Given the description of an element on the screen output the (x, y) to click on. 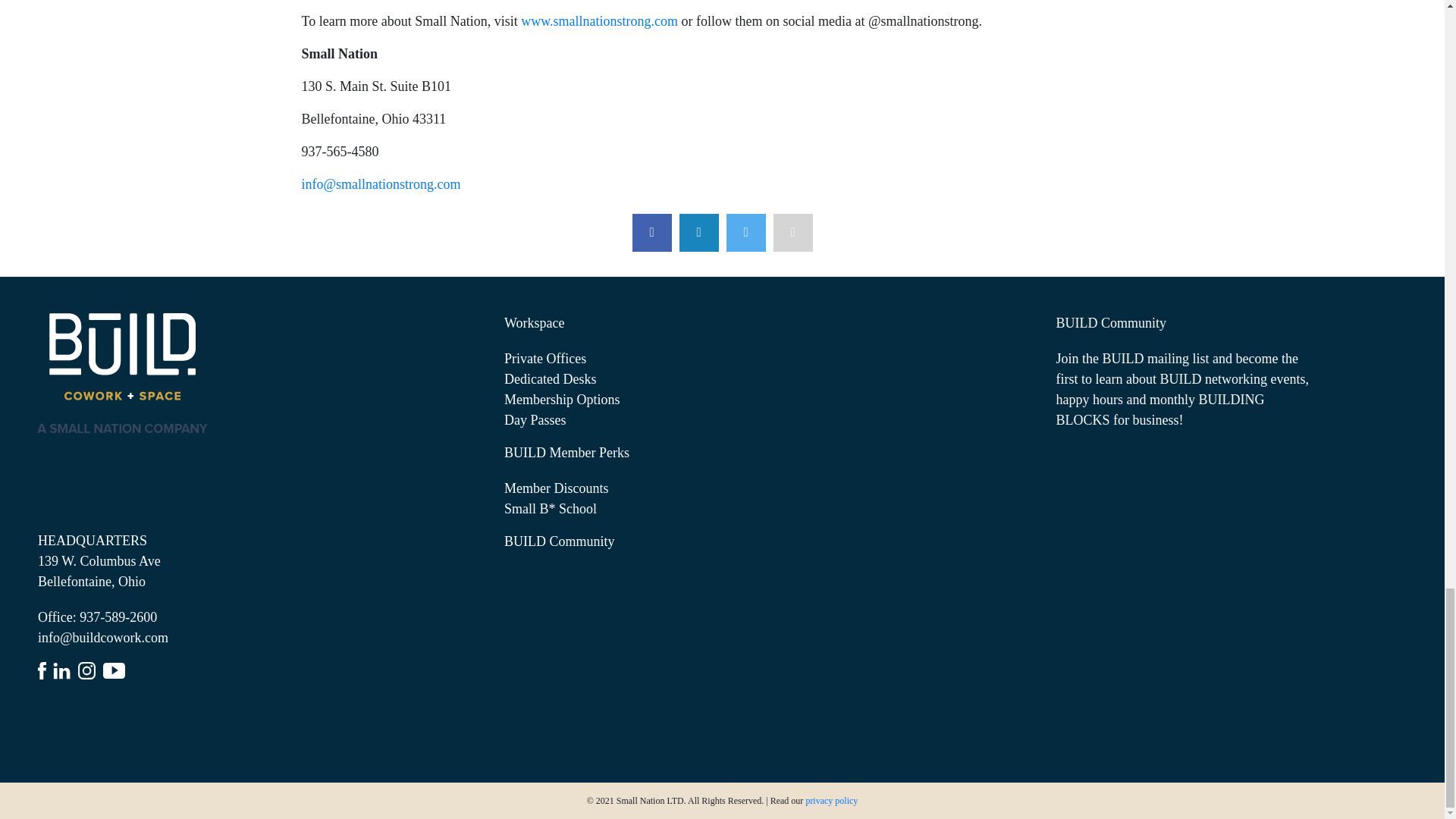
www.smallnationstrong.com (599, 20)
